Given the description of an element on the screen output the (x, y) to click on. 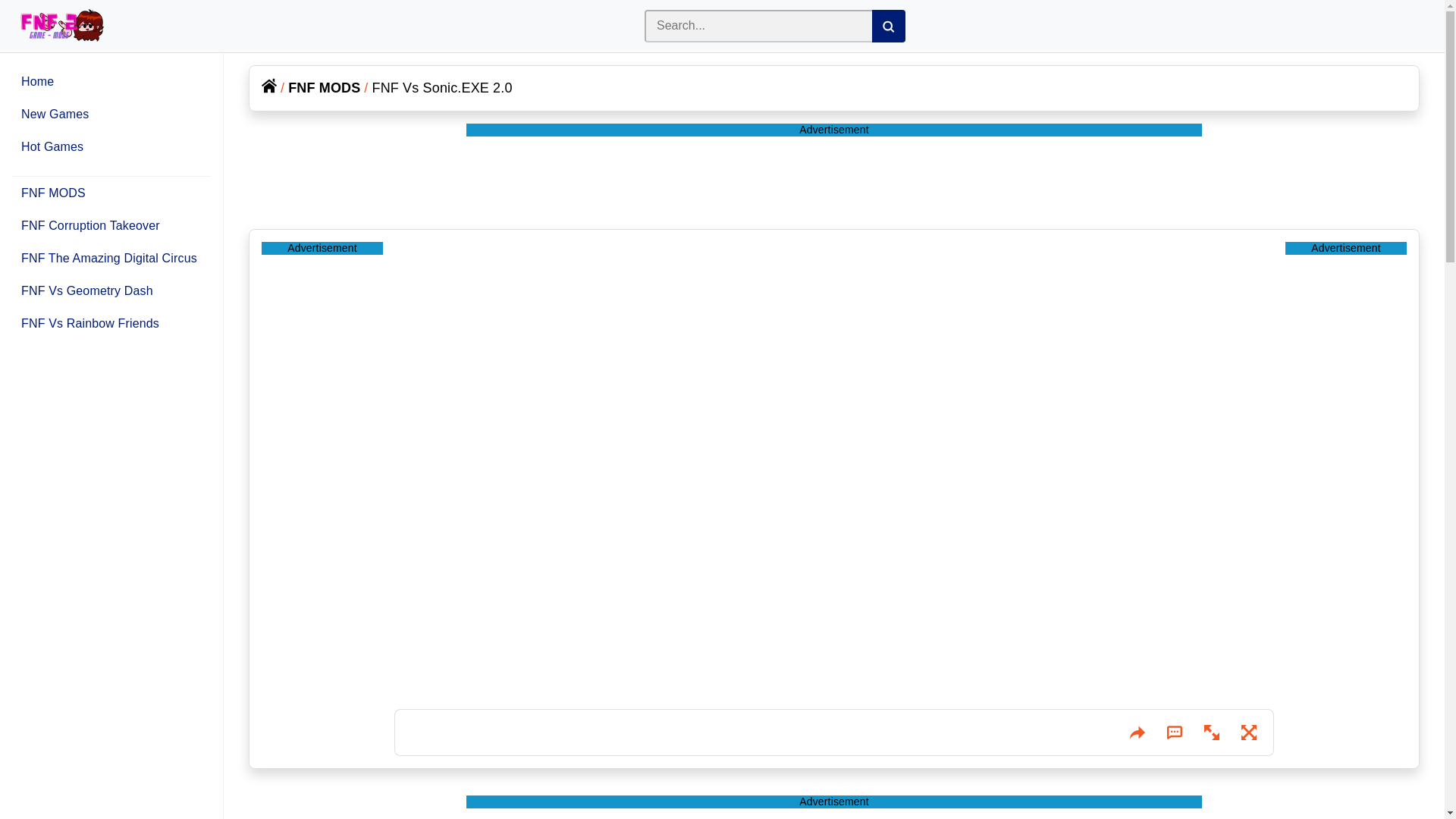
hot-games (51, 146)
Home (37, 81)
new-games (54, 113)
FNF MODS (323, 87)
Home (269, 85)
FNF - FNF GAMES - FNF MODS (56, 26)
FNF - FNF GAMES - FNF MODS (61, 26)
FNF Corruption Takeover (90, 225)
FNF MODS (53, 192)
FNF Corruption Takeover (90, 225)
Hot Games (51, 146)
FNF The Amazing Digital Circus (108, 257)
FNF Vs Rainbow Friends (89, 323)
FNF Vs Rainbow Friends (89, 323)
FNF MODS (53, 192)
